Given the description of an element on the screen output the (x, y) to click on. 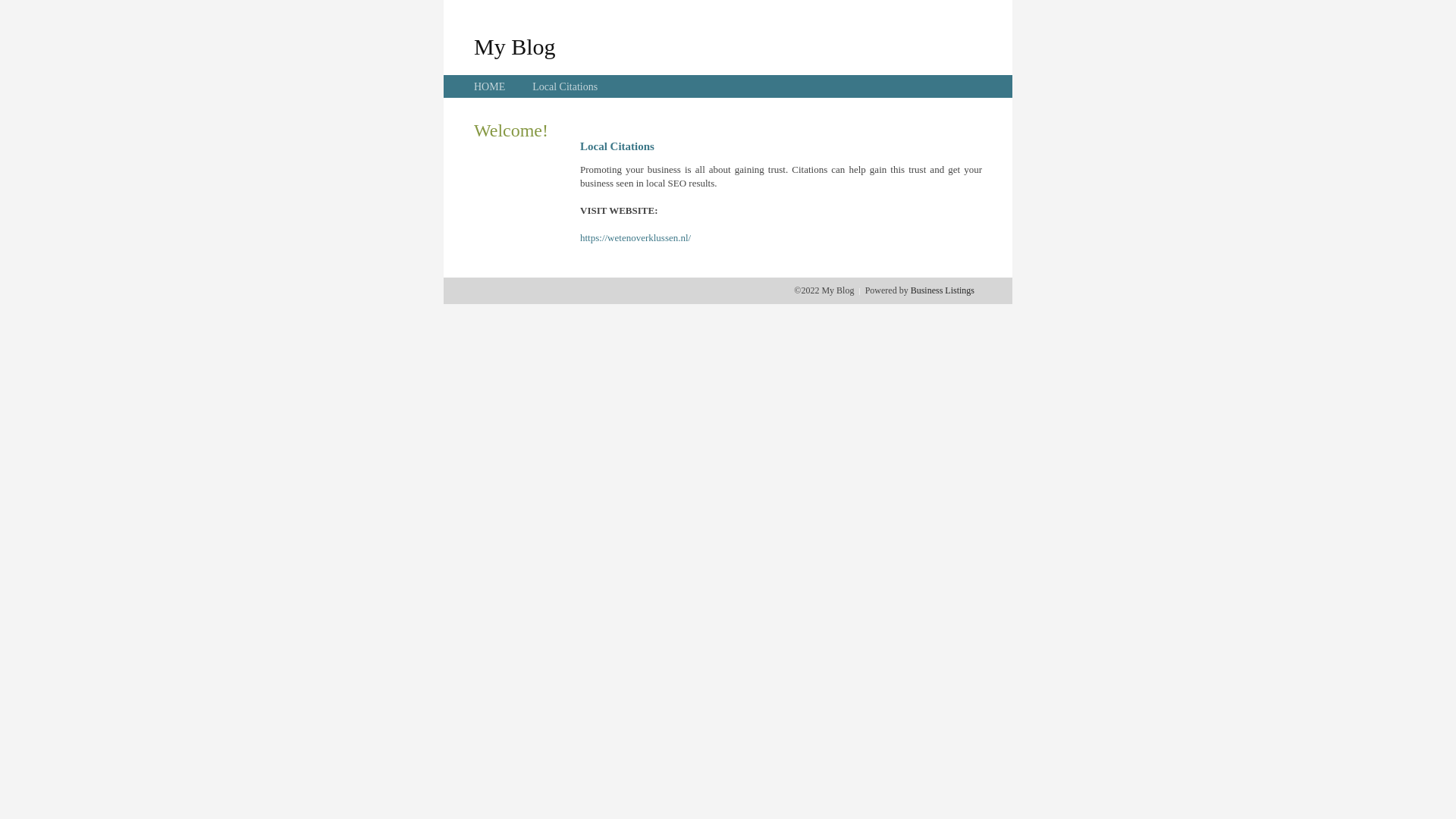
My Blog Element type: text (514, 46)
Local Citations Element type: text (564, 86)
https://wetenoverklussen.nl/ Element type: text (635, 237)
Business Listings Element type: text (942, 290)
HOME Element type: text (489, 86)
